Given the description of an element on the screen output the (x, y) to click on. 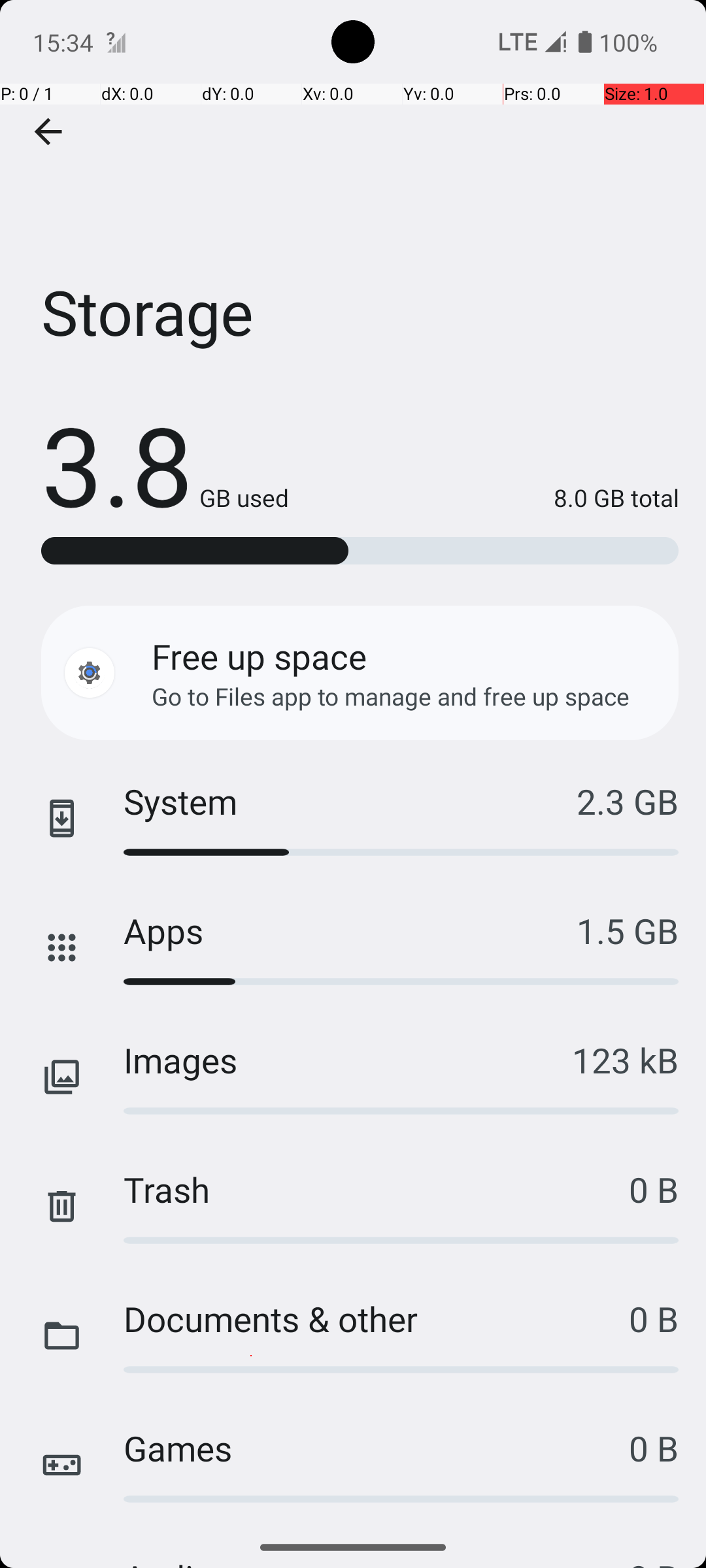
3.8 GB used Element type: android.widget.TextView (164, 463)
1.5 GB Element type: android.widget.TextView (627, 930)
123 kB Element type: android.widget.TextView (624, 1059)
